Given the description of an element on the screen output the (x, y) to click on. 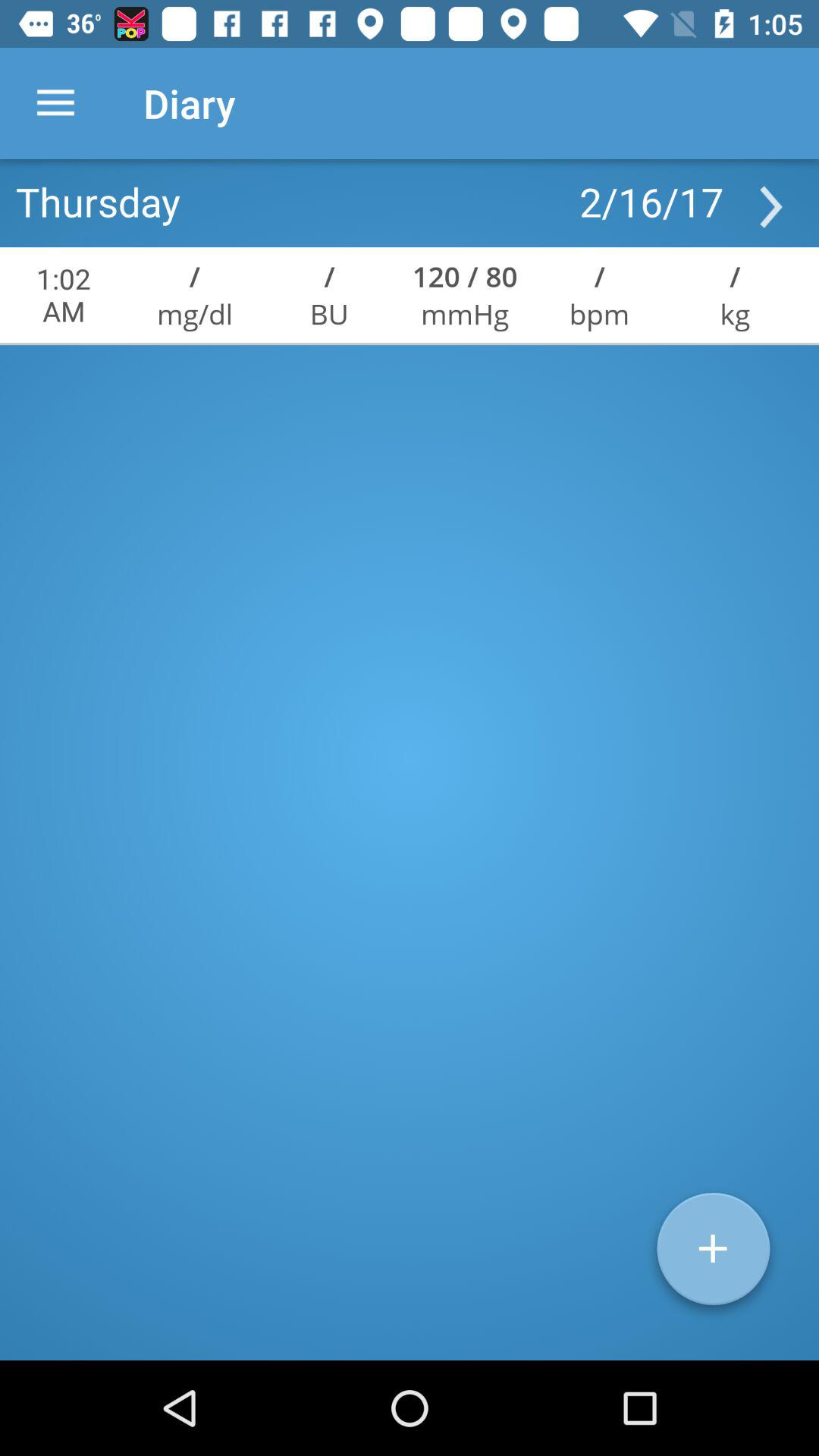
open the icon to the left of 2/16/17 icon (97, 201)
